Given the description of an element on the screen output the (x, y) to click on. 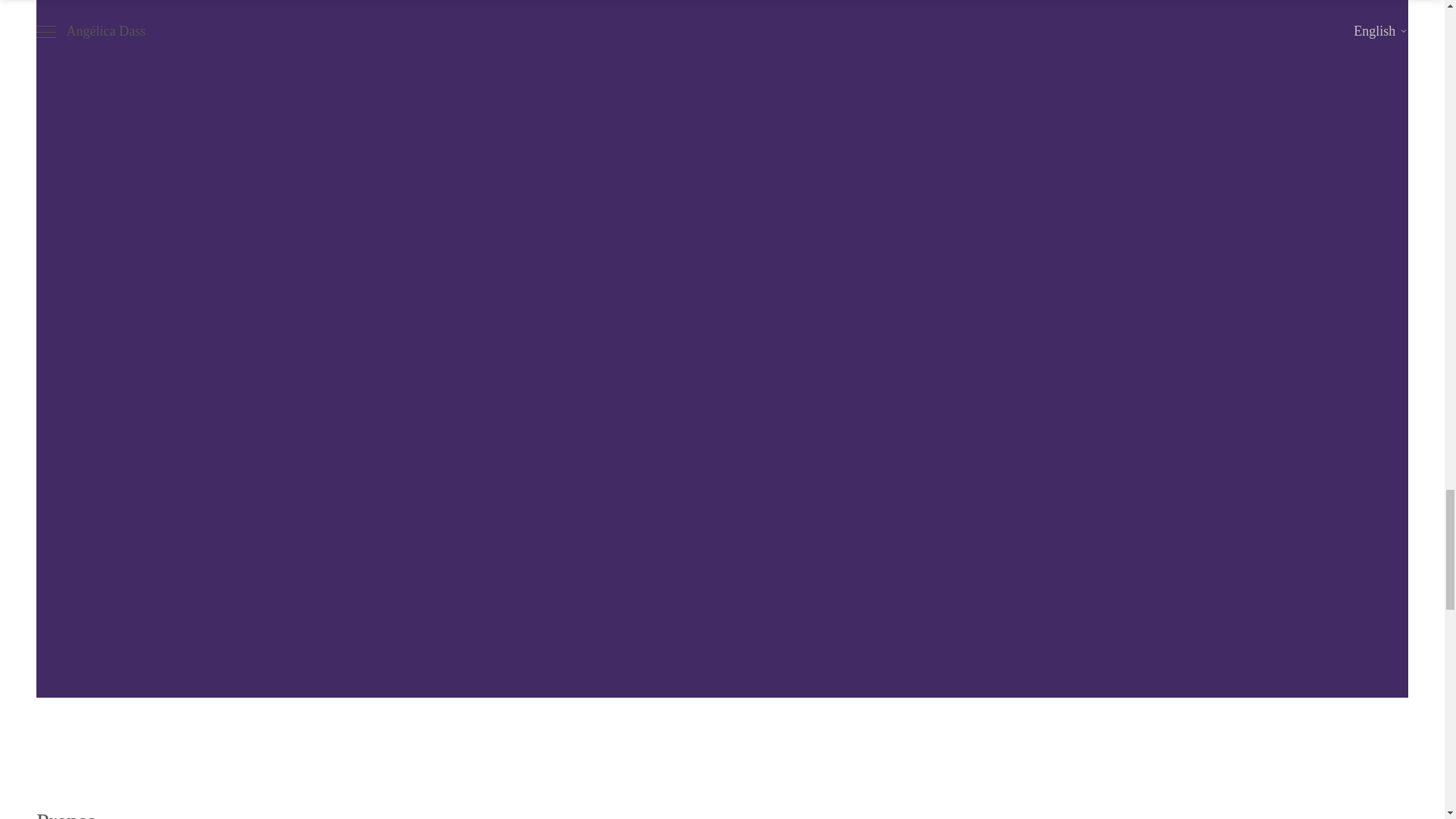
See all Press (1361, 817)
